Given the description of an element on the screen output the (x, y) to click on. 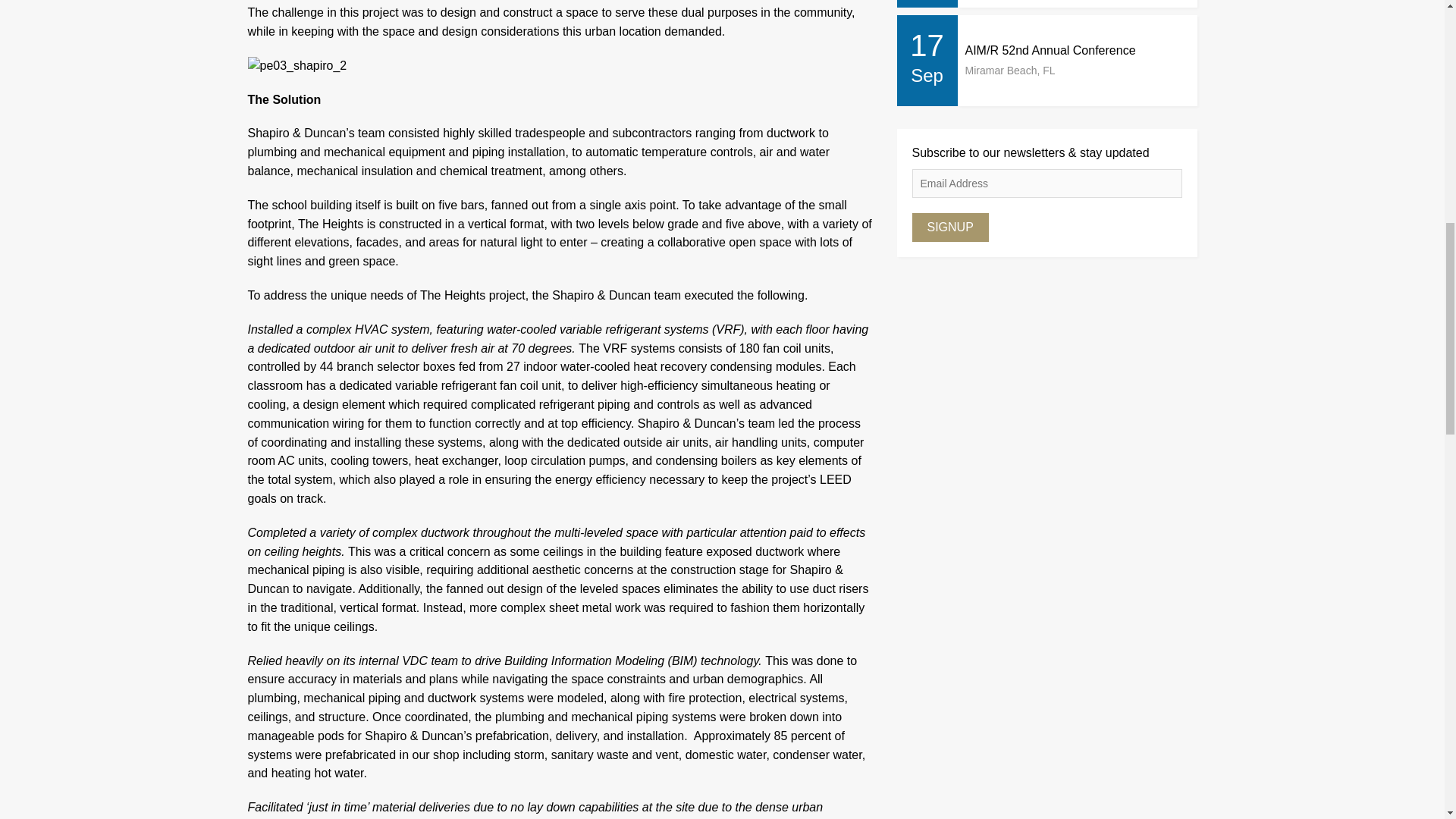
SIGNUP (949, 226)
